Given the description of an element on the screen output the (x, y) to click on. 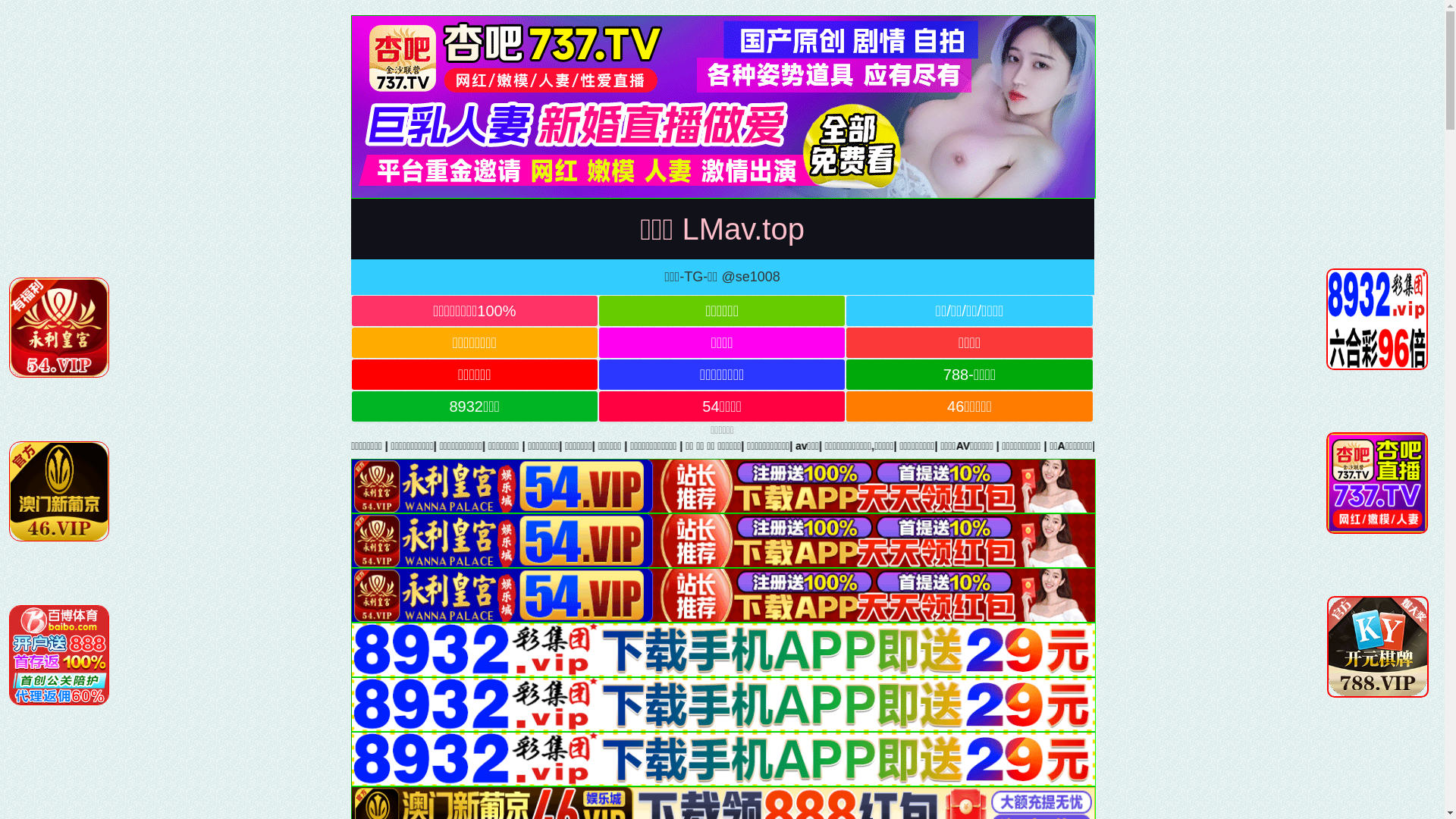
| Element type: text (436, 445)
| Element type: text (685, 445)
| Element type: text (1014, 445)
| Element type: text (1188, 445)
| Element type: text (182, 445)
| Element type: text (586, 445)
| Element type: text (110, 445)
| Element type: text (892, 445)
| Element type: text (1375, 445)
| Element type: text (486, 445)
| Element type: text (1235, 445)
| Element type: text (647, 445)
| Element type: text (978, 445)
| Element type: text (532, 445)
| Element type: text (386, 445)
| Element type: text (1045, 445)
| Element type: text (784, 445)
| Element type: text (845, 445)
| Element type: text (939, 445)
| Element type: text (1262, 445)
| Element type: text (1335, 445)
| Element type: text (318, 445)
| Element type: text (1129, 445)
| Element type: text (725, 445)
| Element type: text (232, 445)
| Element type: text (1435, 445)
| Element type: text (139, 445)
| Element type: text (275, 445)
| Element type: text (1075, 445)
